Given the description of an element on the screen output the (x, y) to click on. 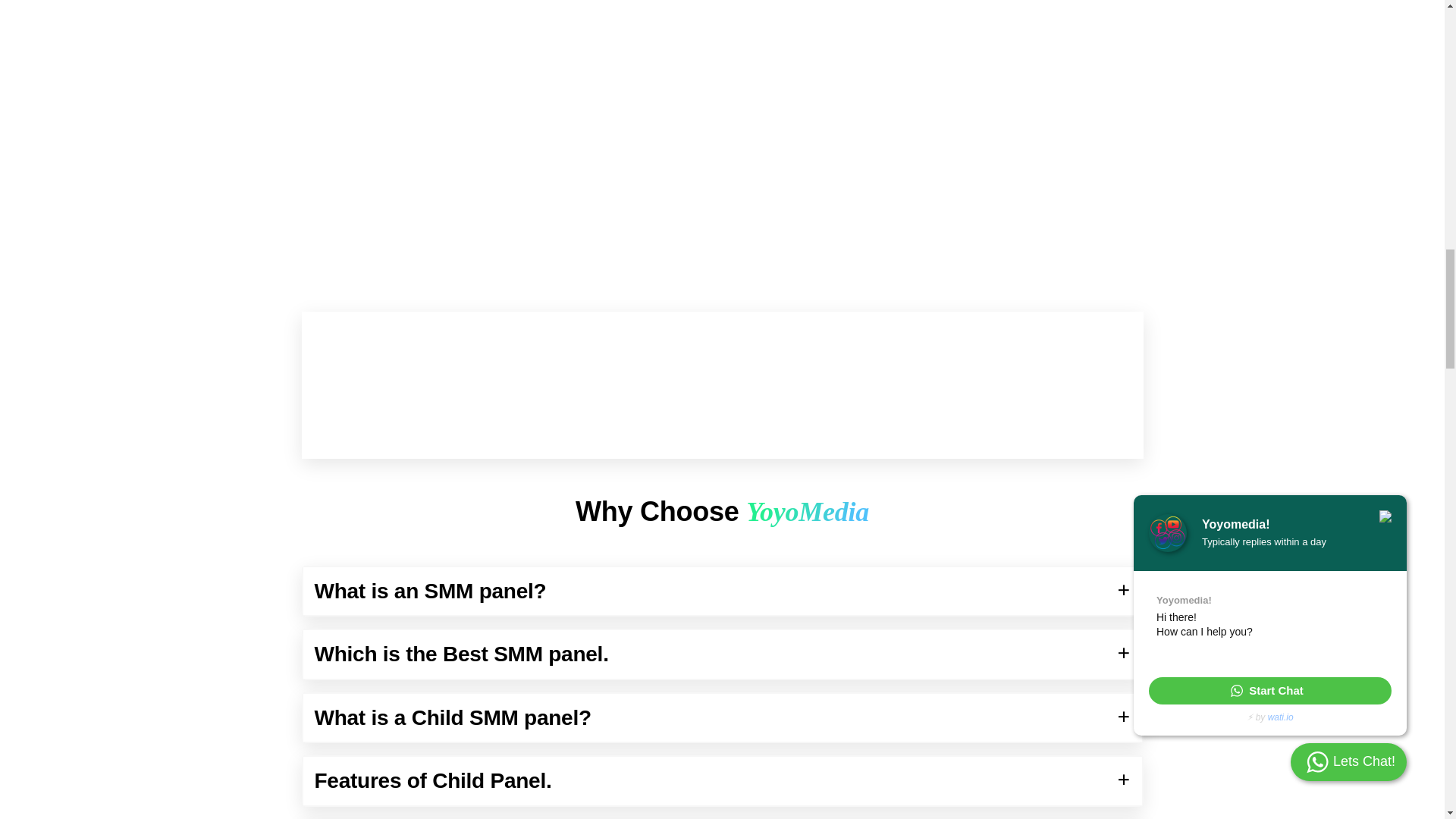
Features of Child Panel. (721, 780)
What is an SMM panel? (721, 591)
What is a Child SMM panel? (721, 717)
Which is the Best SMM panel. (721, 653)
